Given the description of an element on the screen output the (x, y) to click on. 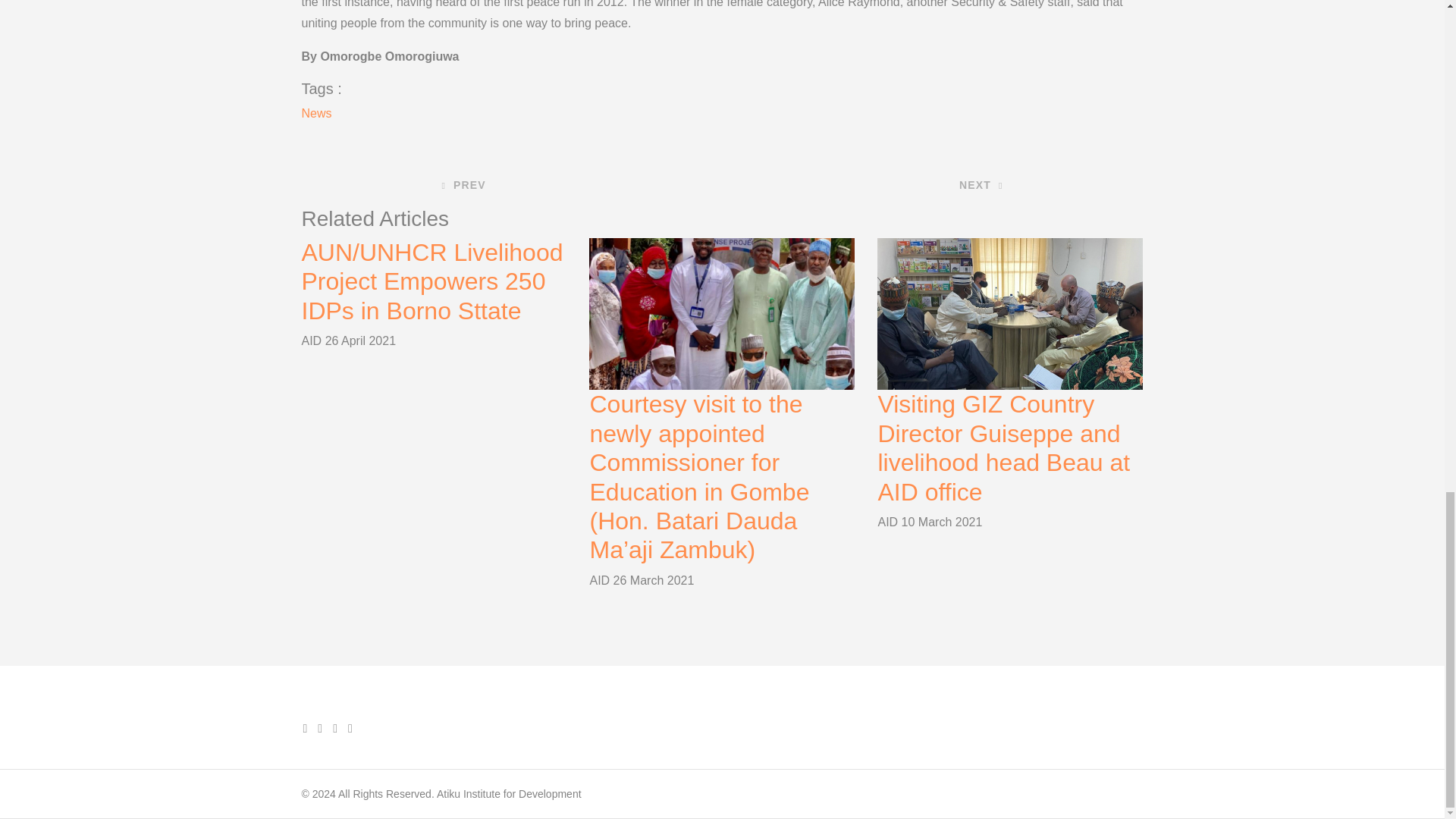
Published: 26 April 2021 (360, 340)
Written by AID (312, 340)
Written by AID (889, 521)
Written by AID (600, 580)
Published: 26 March 2021 (653, 580)
Published: 10 March 2021 (941, 521)
